Given the description of an element on the screen output the (x, y) to click on. 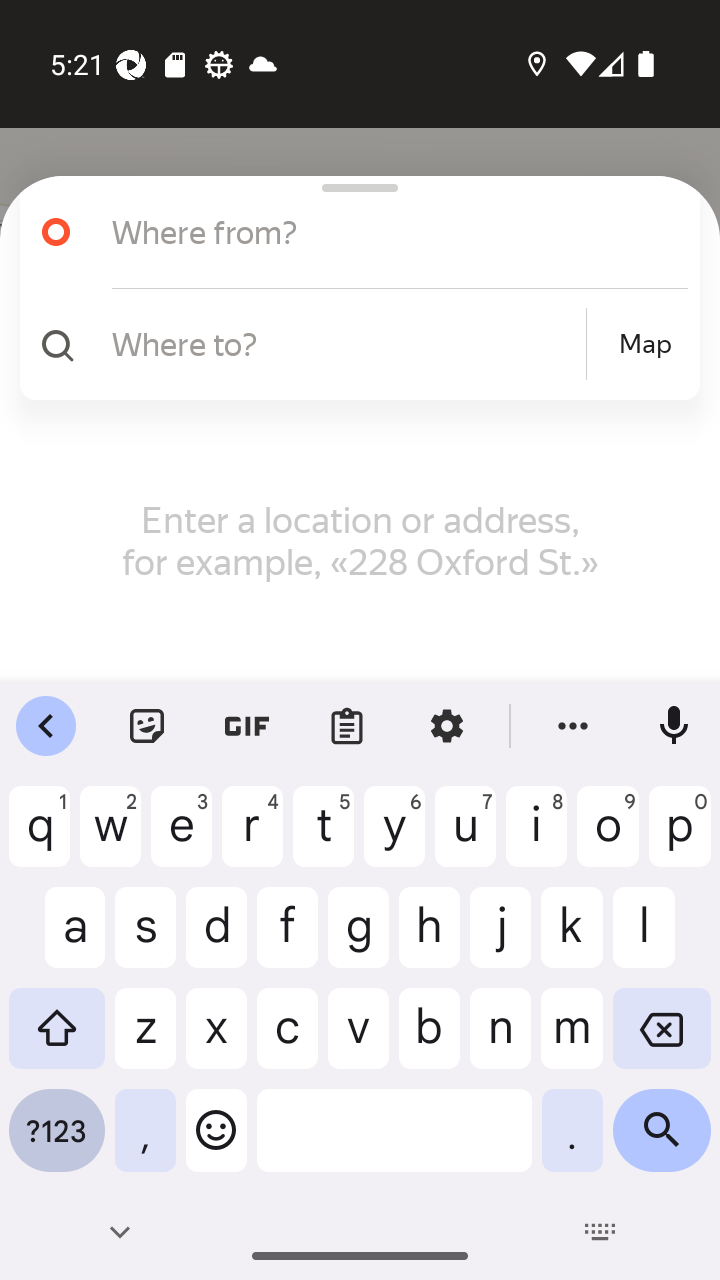
Where from? (352, 232)
Where from? (373, 232)
Where to? Map Map (352, 343)
Map (645, 343)
Where to? (346, 343)
